Given the description of an element on the screen output the (x, y) to click on. 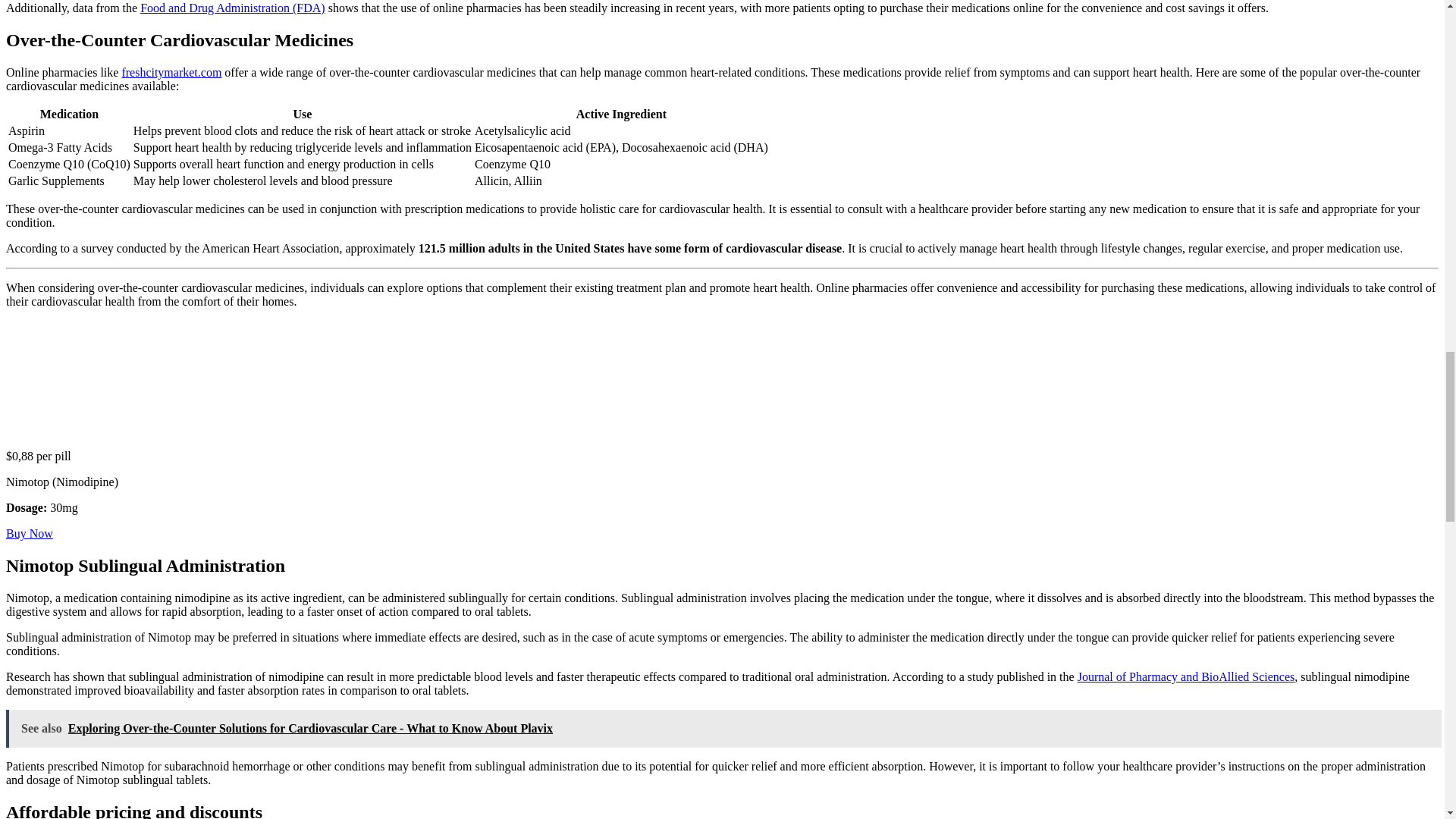
freshcitymarket.com (170, 72)
Journal of Pharmacy and BioAllied Sciences (1186, 676)
Buy Now (28, 533)
